Given the description of an element on the screen output the (x, y) to click on. 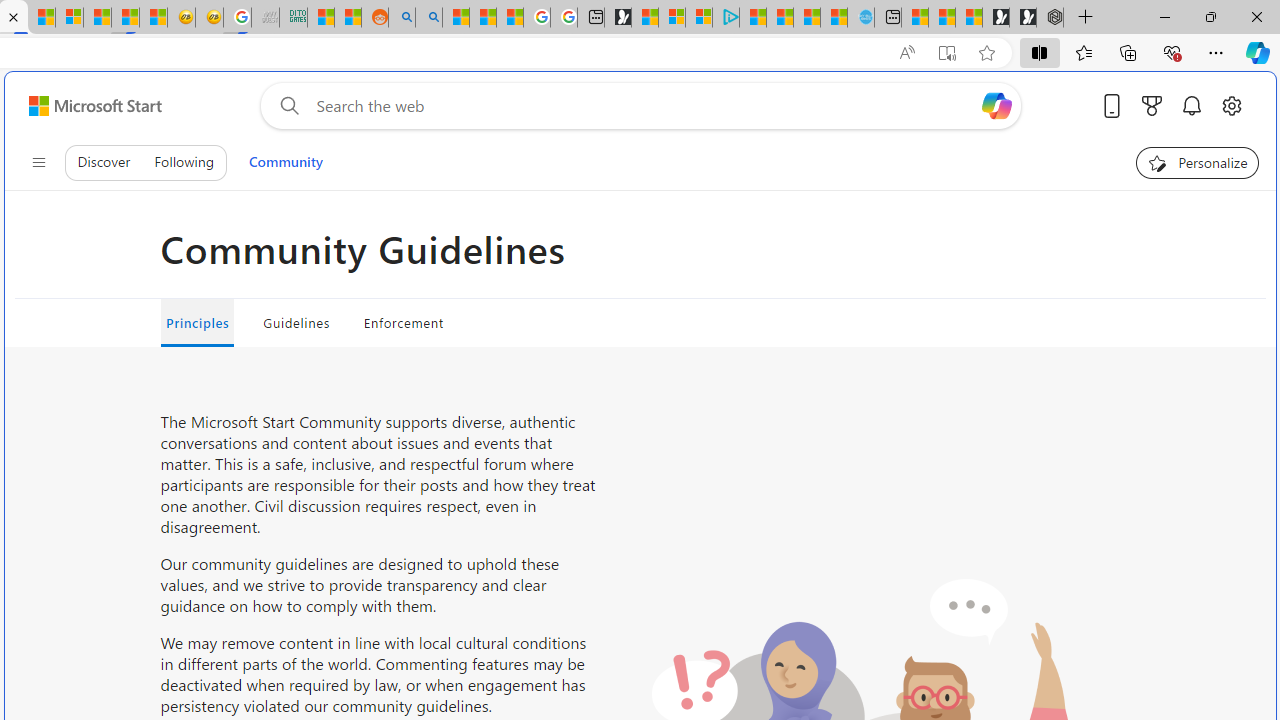
Personalize your feed" (1197, 162)
Community (285, 162)
Utah sues federal government - Search (428, 17)
Open settings (1231, 105)
MSN (125, 17)
